Given the description of an element on the screen output the (x, y) to click on. 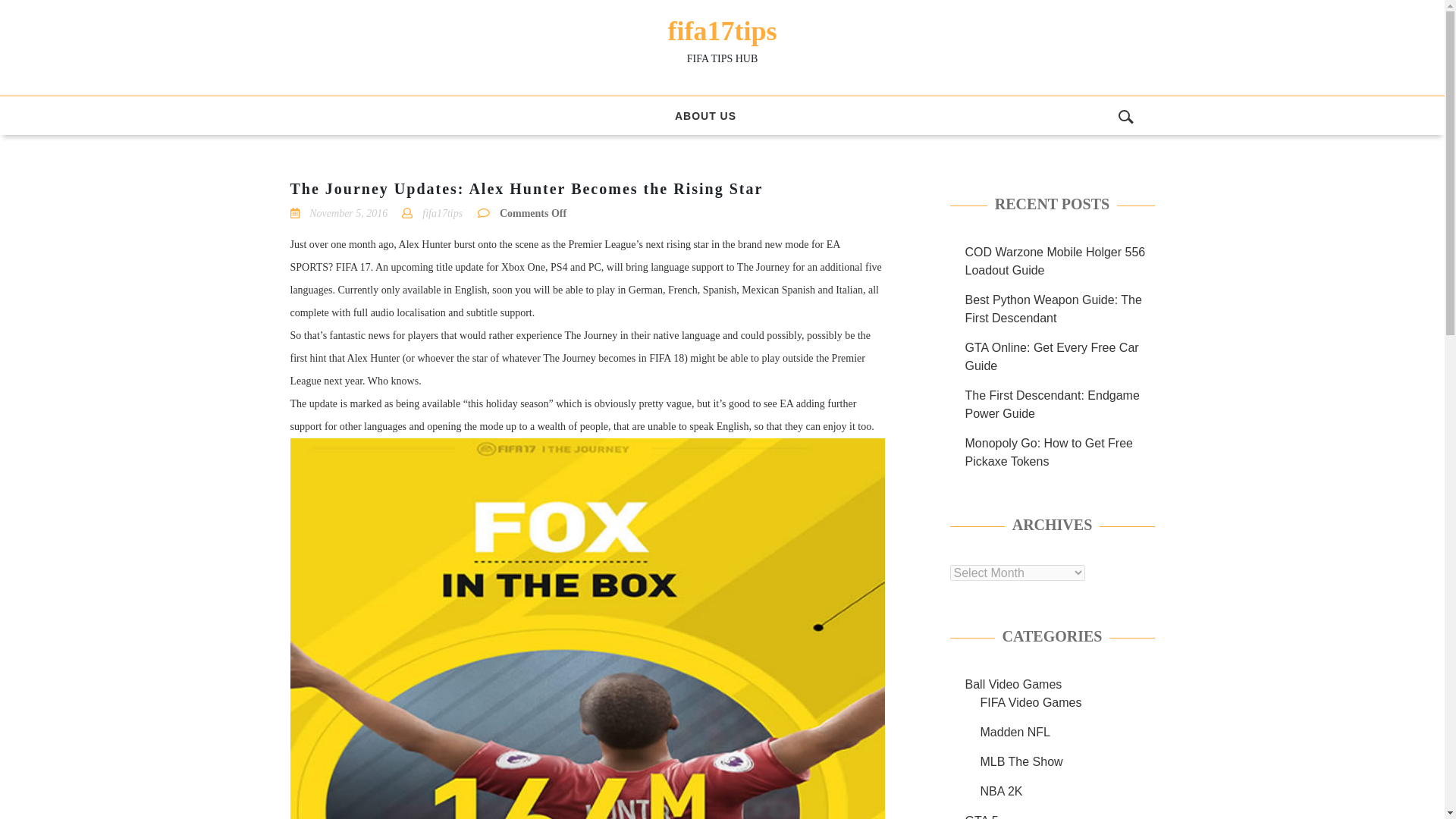
COD Warzone Mobile Holger 556 Loadout Guide (1053, 260)
The First Descendant: Endgame Power Guide (1050, 404)
GTA Online: Get Every Free Car Guide (1050, 356)
November 5, 2016 (347, 213)
ABOUT US (705, 115)
Best Python Weapon Guide: The First Descendant (1052, 308)
fifa17tips (721, 30)
FIFA Video Games (1030, 702)
NBA 2K (1000, 790)
fifa17tips (442, 213)
